Given the description of an element on the screen output the (x, y) to click on. 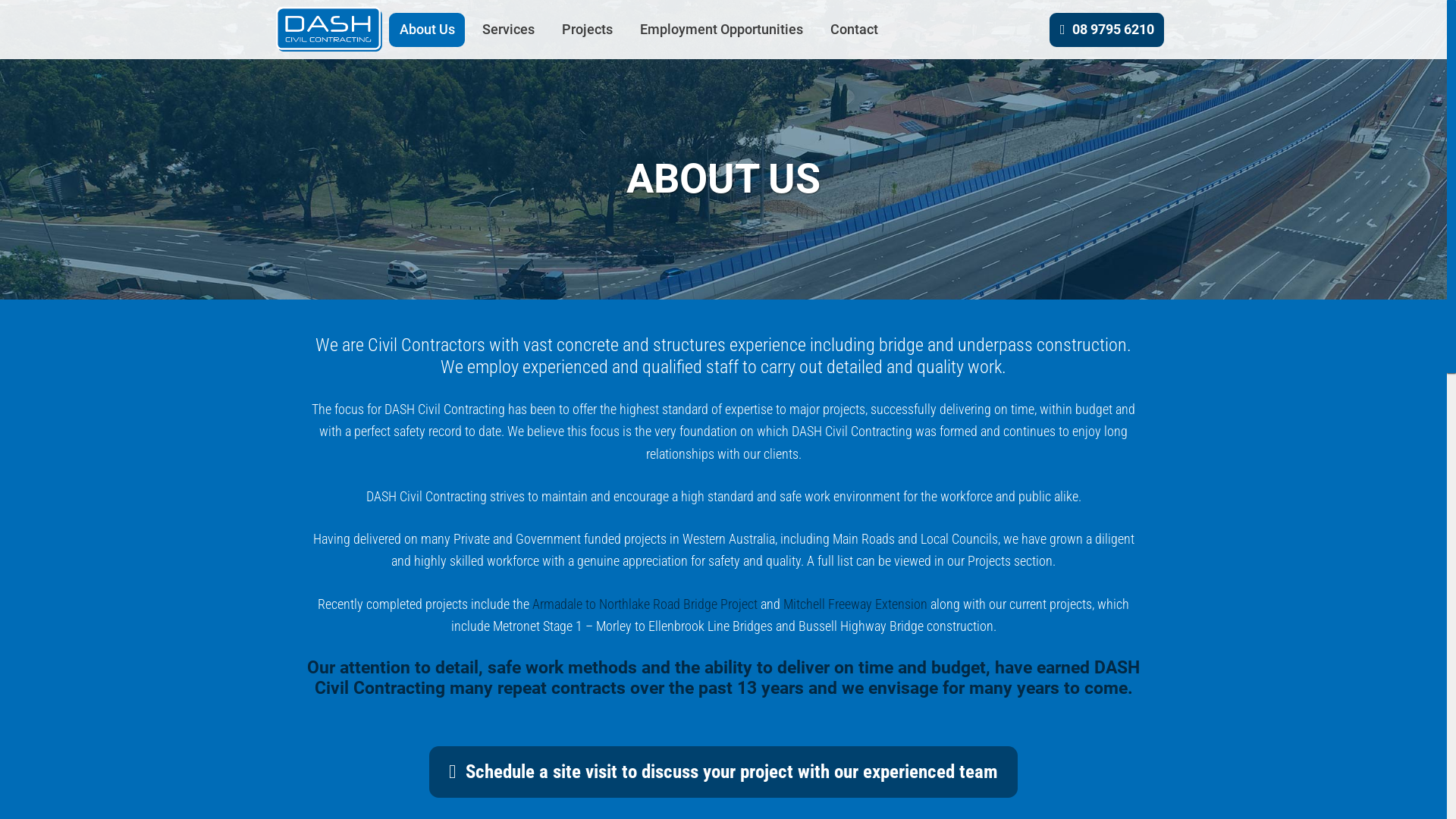
Armadale to Northlake Road Bridge Project Element type: text (644, 603)
Contact Element type: text (853, 29)
08 9795 6210 Element type: text (1106, 29)
Employment Opportunities Element type: text (720, 29)
Mitchell Freeway Extension Element type: text (855, 603)
Services Element type: text (507, 29)
Home Element type: text (329, 29)
Projects Element type: text (586, 29)
About Us Element type: text (426, 29)
